Given the description of an element on the screen output the (x, y) to click on. 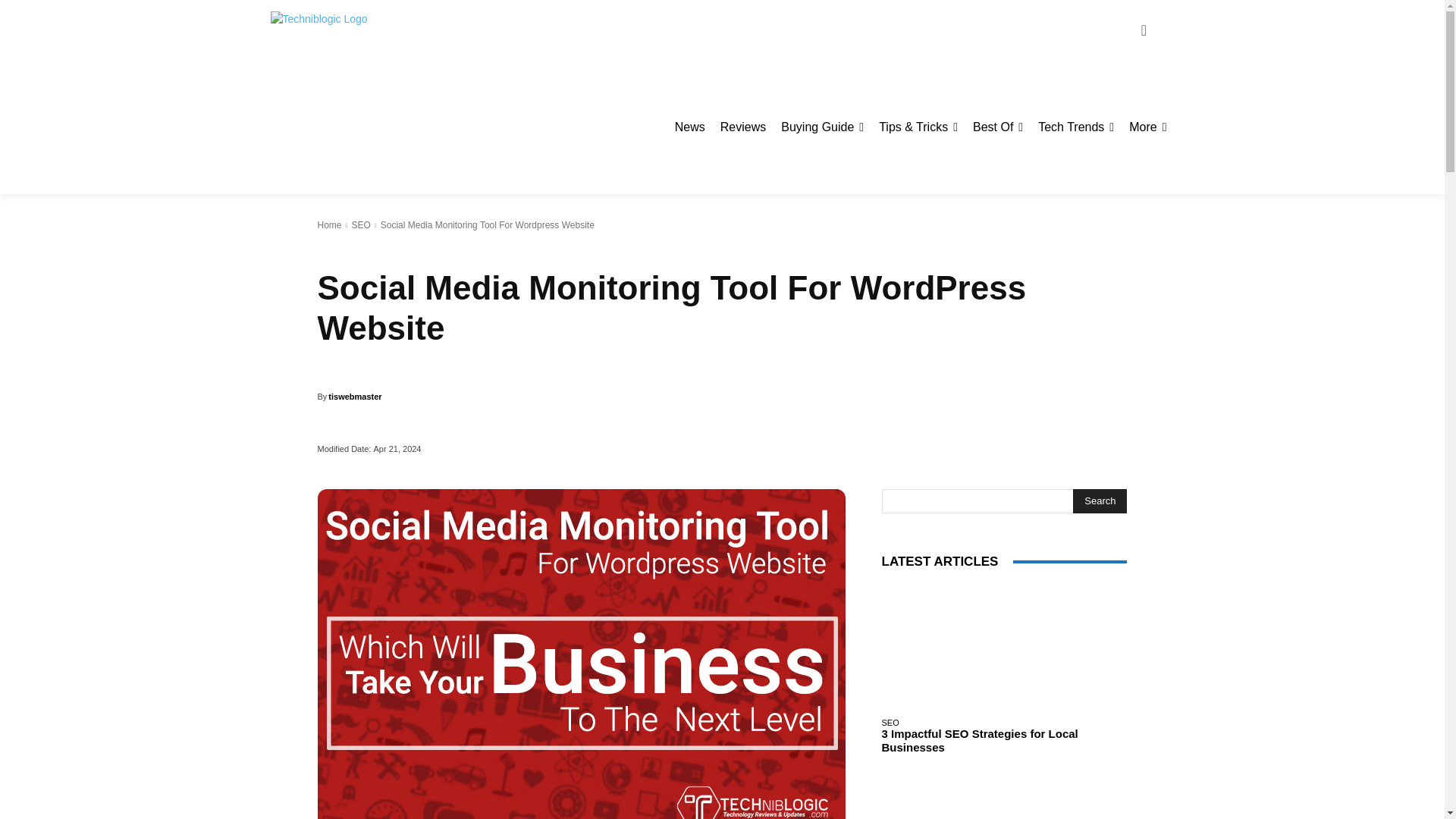
Best Of (997, 127)
Buying Guide (821, 127)
View all posts in SEO (359, 225)
Techniblogic Logo (352, 28)
Reviews (743, 127)
Best Of (997, 127)
Tech Trends Gadgets (1075, 127)
